Given the description of an element on the screen output the (x, y) to click on. 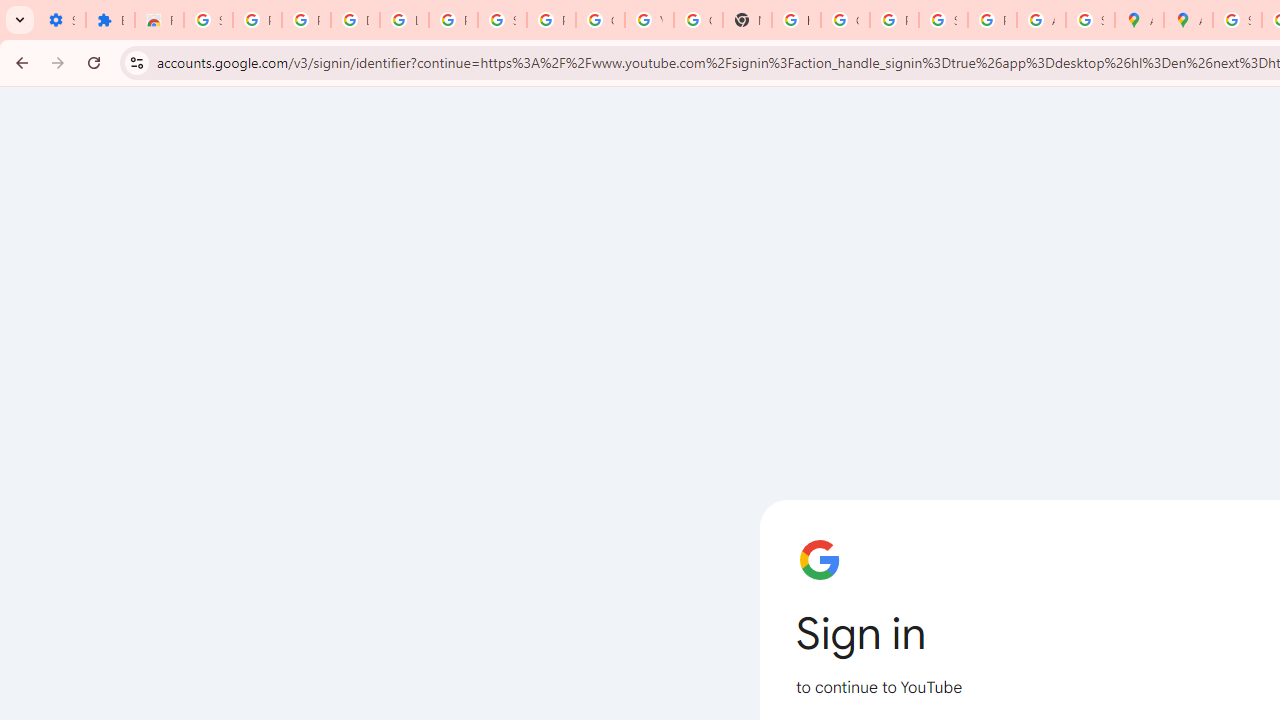
Learn how to find your photos - Google Photos Help (404, 20)
YouTube (649, 20)
Sign in - Google Accounts (502, 20)
Sign in - Google Accounts (208, 20)
Google Account (600, 20)
